Given the description of an element on the screen output the (x, y) to click on. 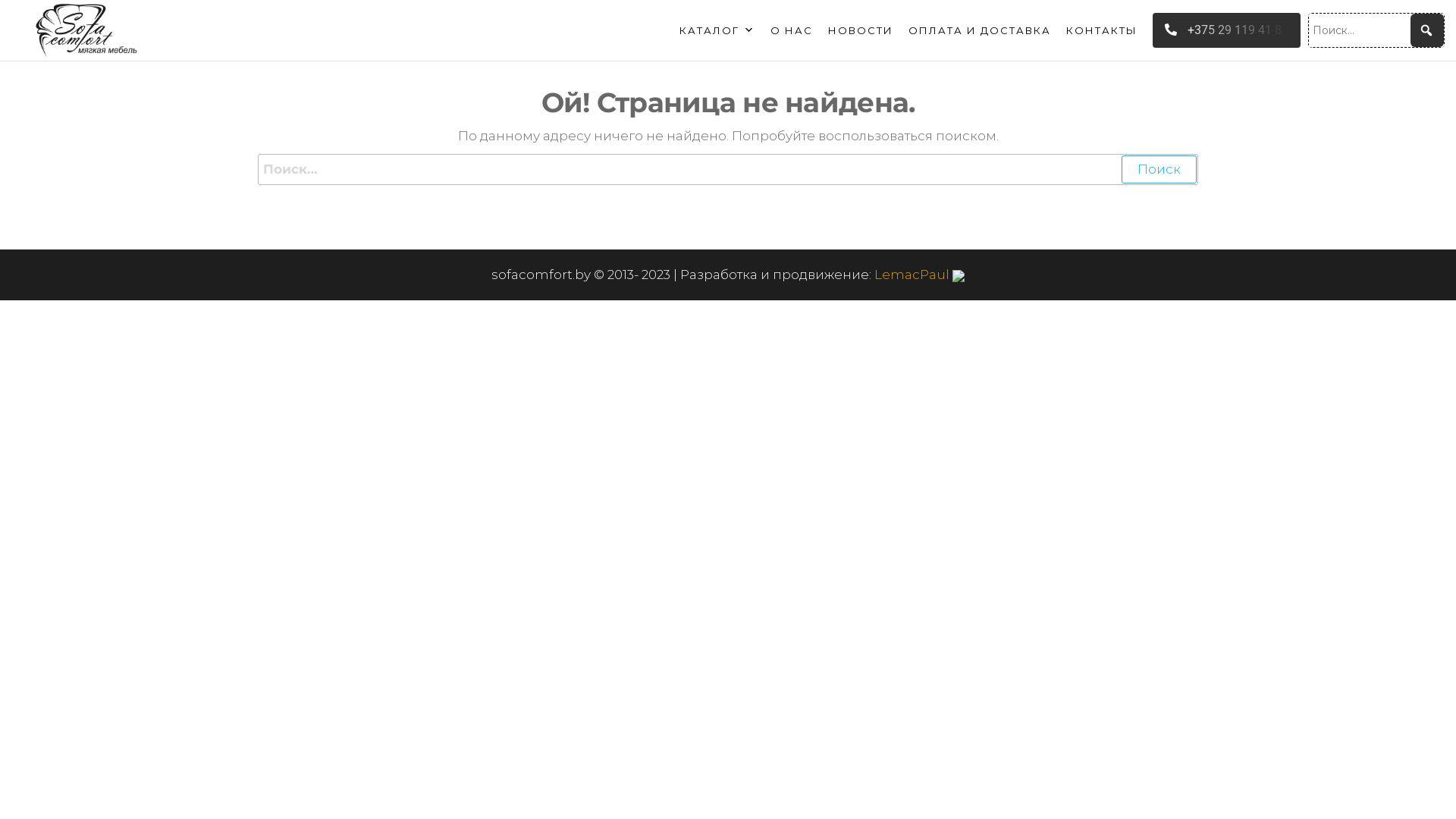
+375 29 119 41 8 Element type: text (1222, 29)
LemacPaul Element type: text (919, 274)
SOFA COMFORT Element type: text (227, 54)
Search Element type: text (34, 23)
+375 29 119 41 8 Element type: text (1226, 30)
